Given the description of an element on the screen output the (x, y) to click on. 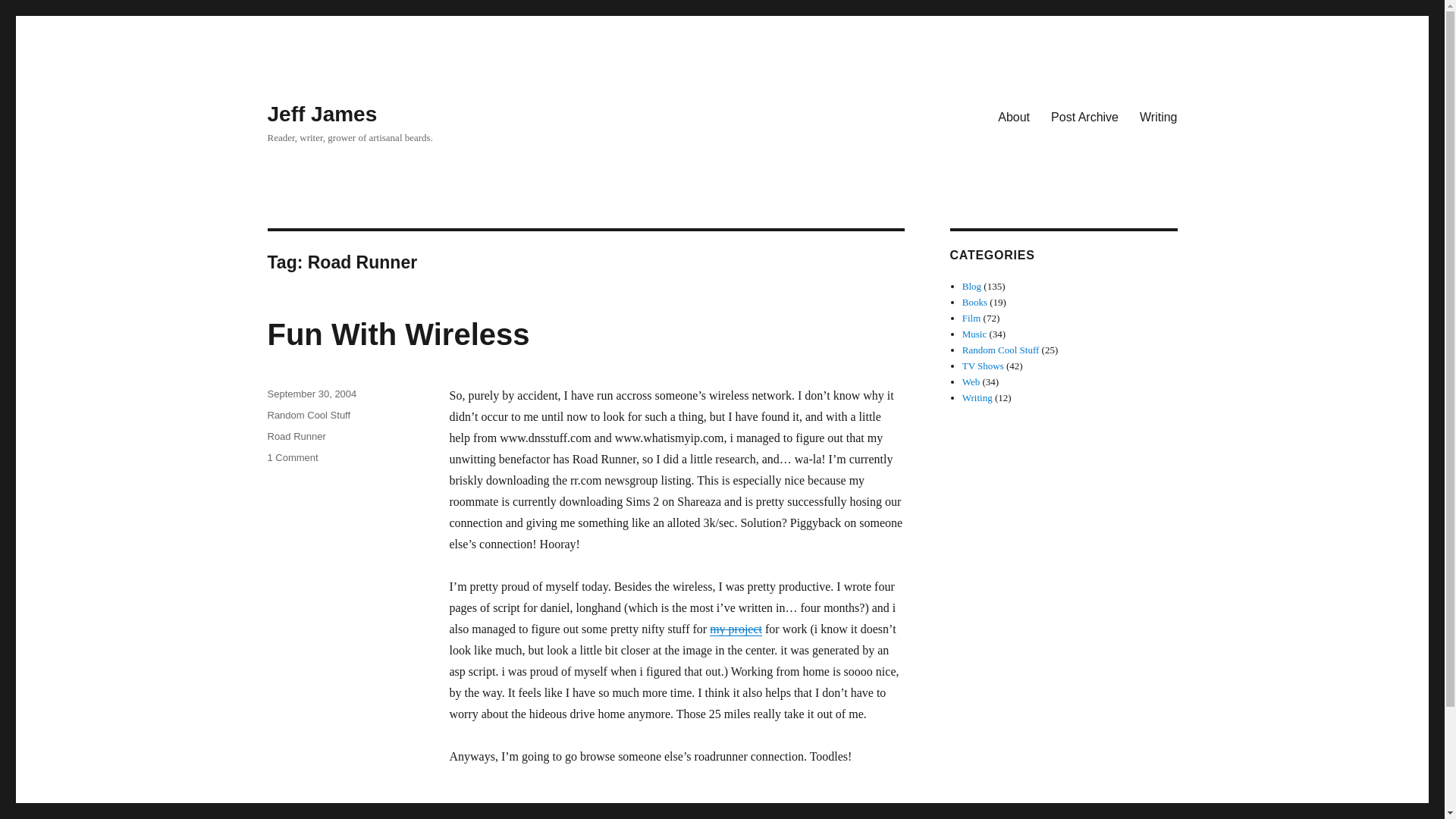
Fun With Wireless (397, 334)
Writing (977, 397)
Web (970, 381)
Blog (971, 285)
About (1014, 116)
TV Shows (983, 365)
Books (974, 301)
Film (971, 317)
Music (974, 333)
Writing (1158, 116)
